Given the description of an element on the screen output the (x, y) to click on. 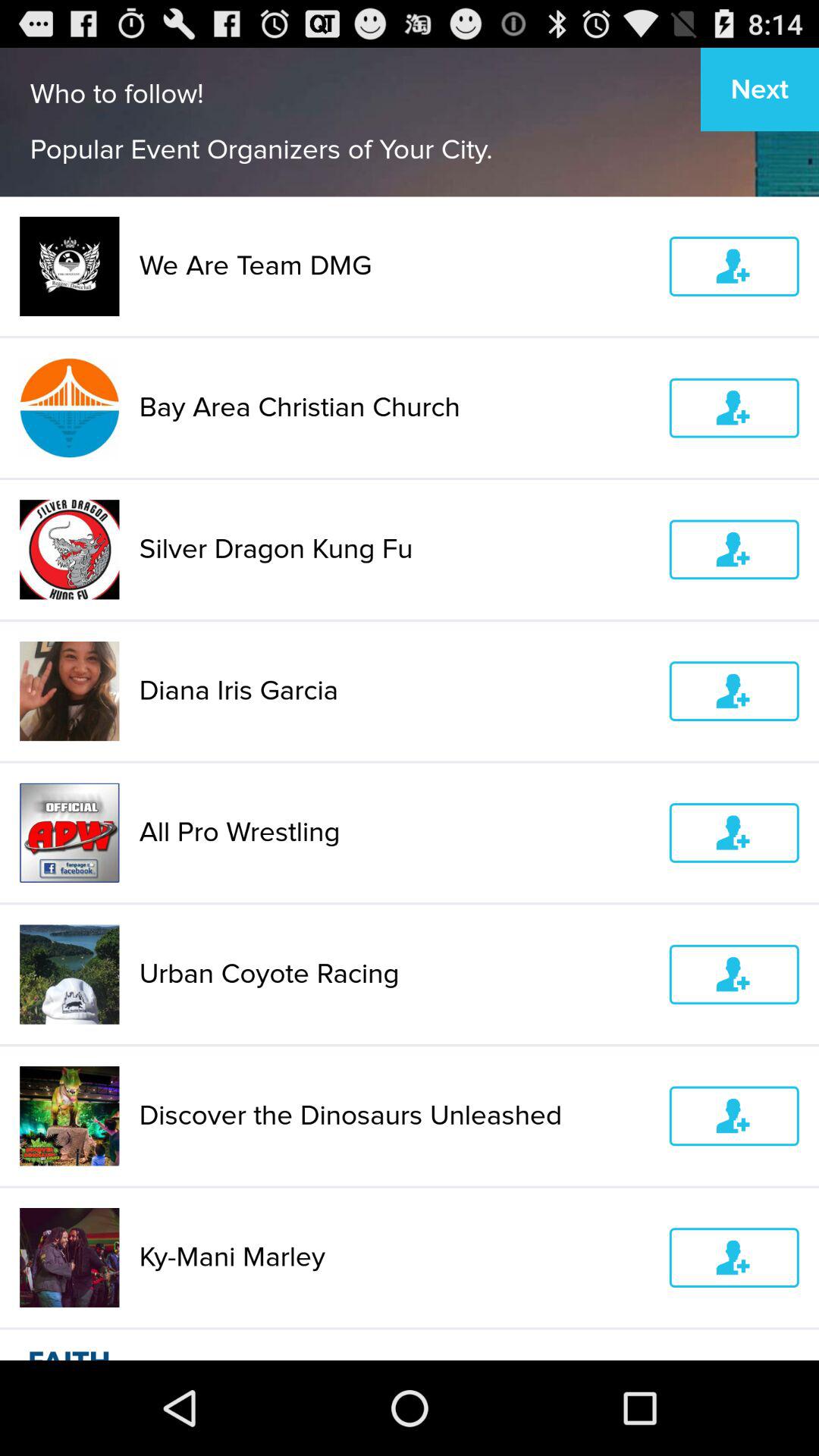
turn off icon below all pro wrestling icon (394, 973)
